Given the description of an element on the screen output the (x, y) to click on. 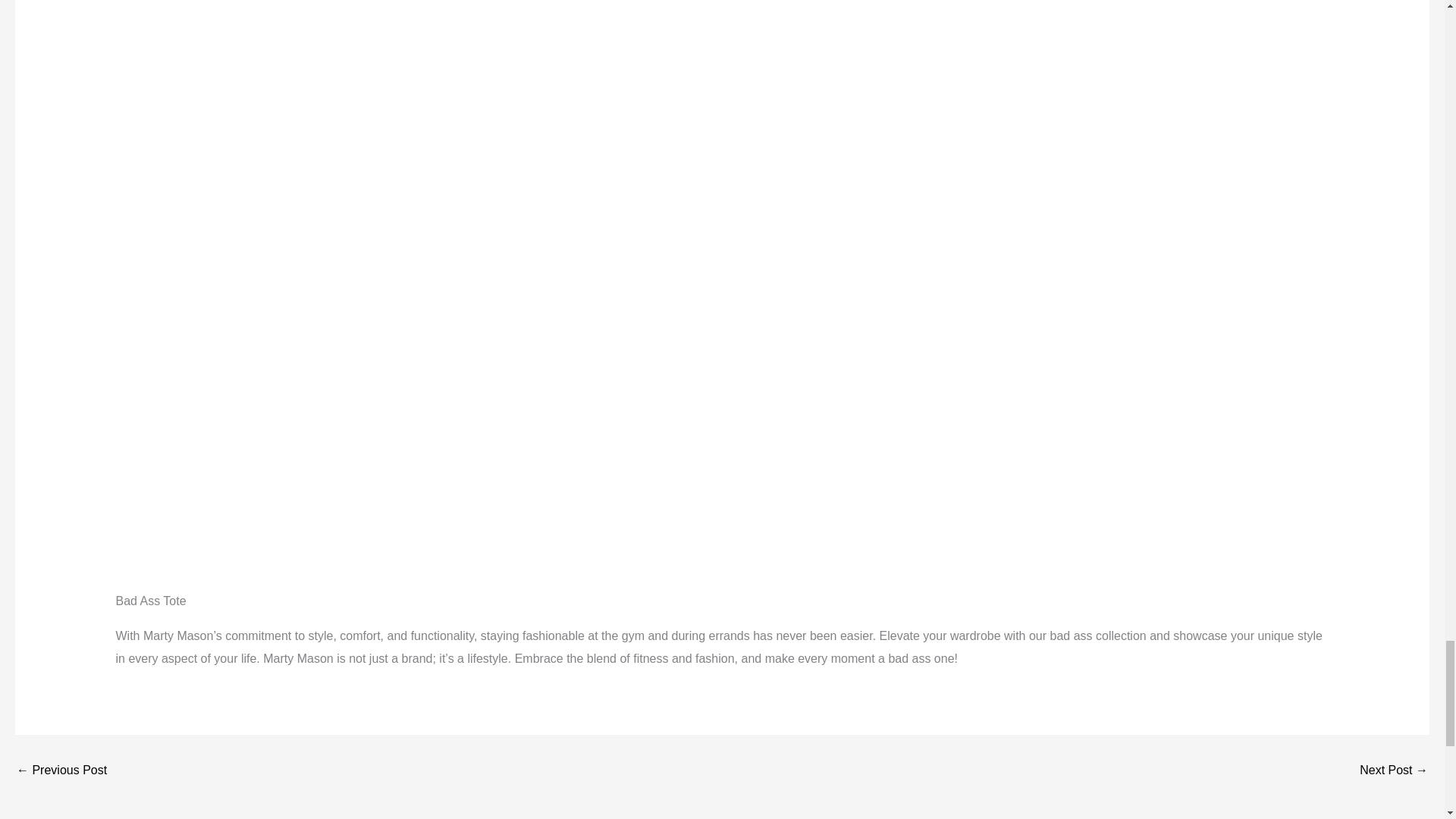
What Does Our Stag Logo Represent? (61, 770)
3 Staple Pieces for Your Winter Closet (1393, 770)
